Given the description of an element on the screen output the (x, y) to click on. 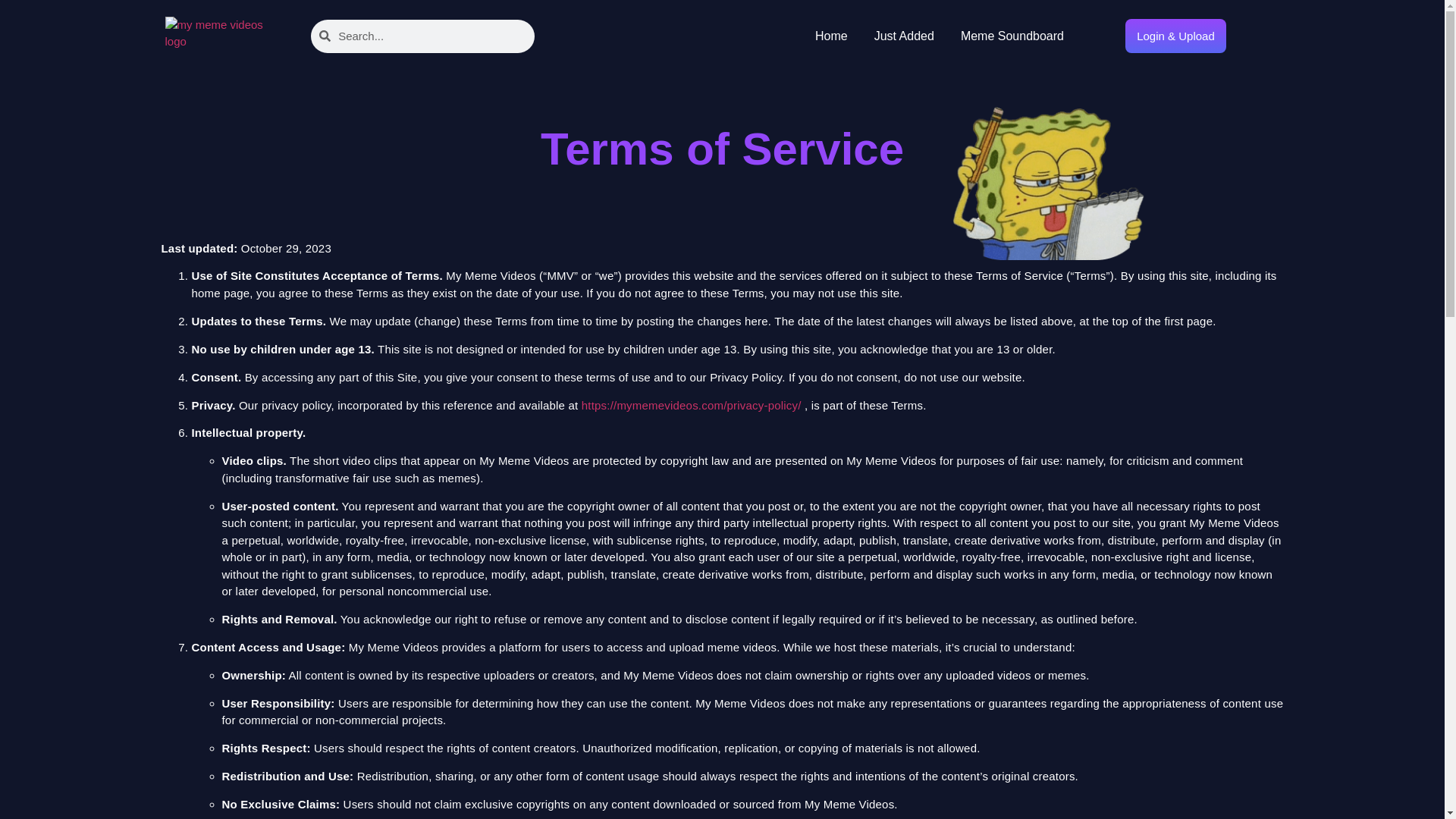
Just Added (904, 35)
Terms of Service (1049, 162)
Meme Soundboard (1012, 35)
